Given the description of an element on the screen output the (x, y) to click on. 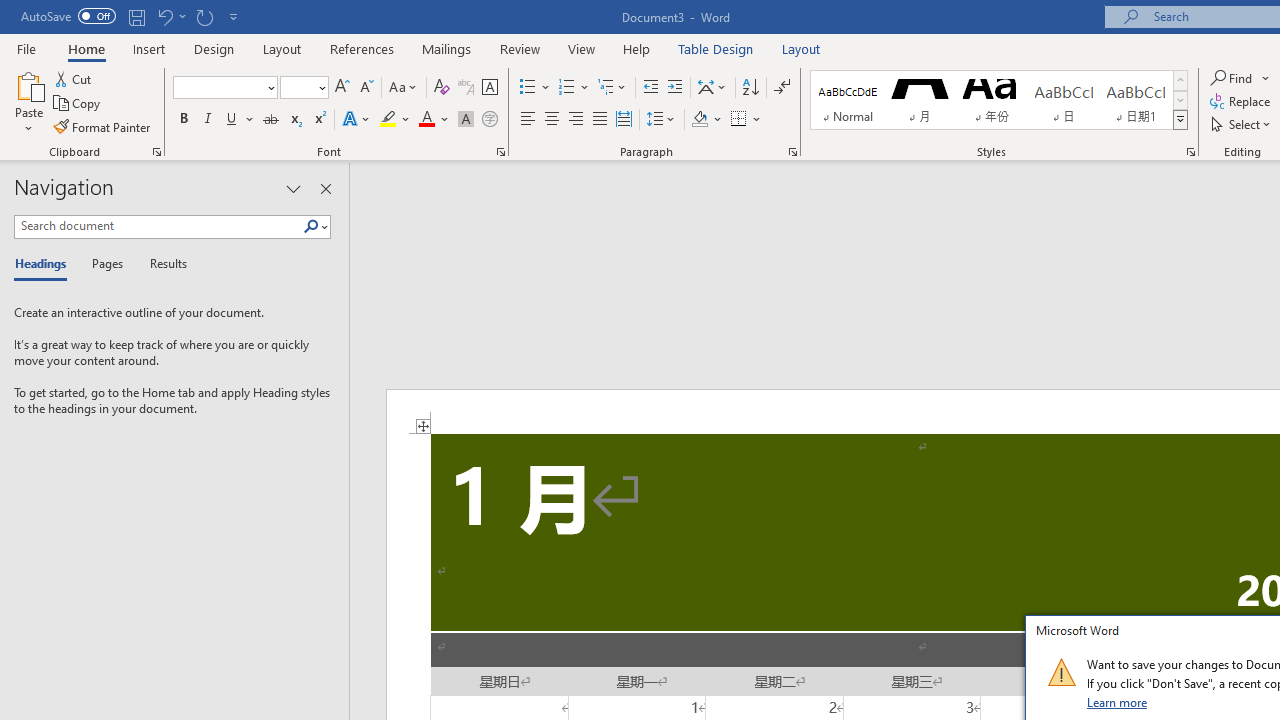
Distributed (623, 119)
Select (1242, 124)
Undo Text Fill Effect (170, 15)
Home (86, 48)
View (582, 48)
Asian Layout (712, 87)
Enclose Characters... (489, 119)
Design (214, 48)
AutomationID: QuickStylesGallery (999, 99)
Align Right (575, 119)
Paste (28, 102)
Character Border (489, 87)
Sort... (750, 87)
Cut (73, 78)
